Given the description of an element on the screen output the (x, y) to click on. 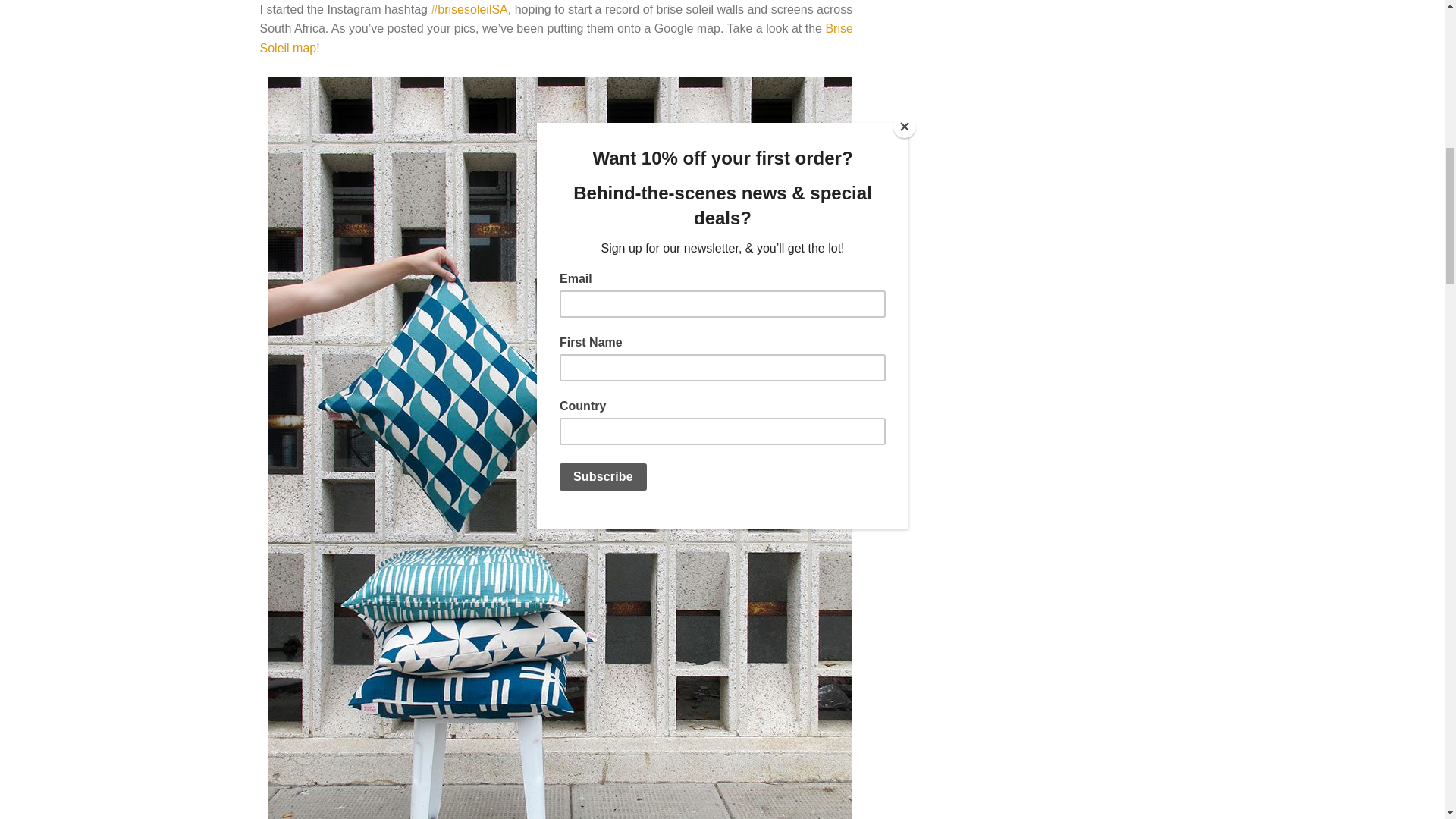
Brise Soleil map (555, 38)
